Given the description of an element on the screen output the (x, y) to click on. 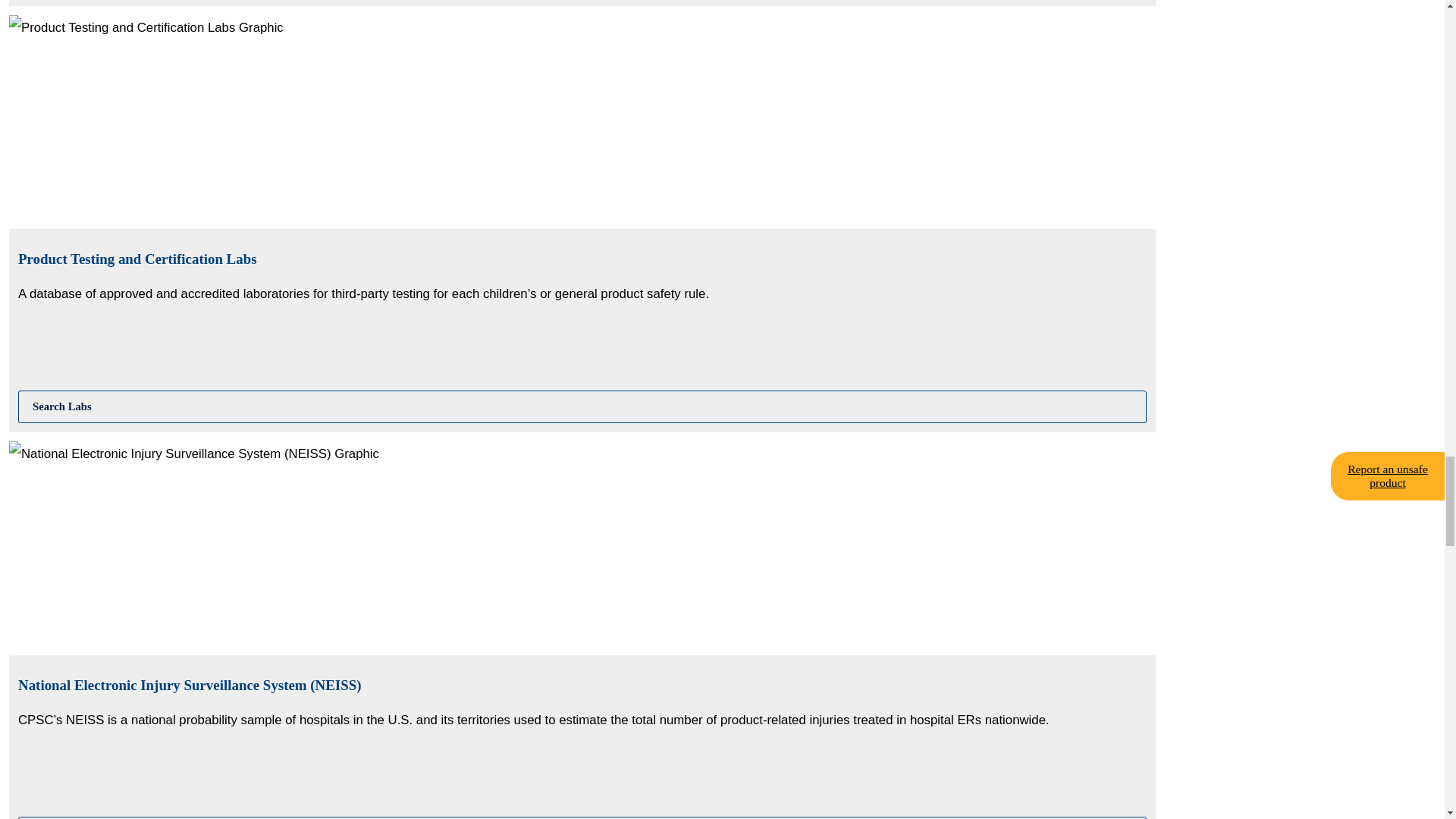
Search Labs (582, 406)
Product Testing and Certification Labs (582, 406)
